Given the description of an element on the screen output the (x, y) to click on. 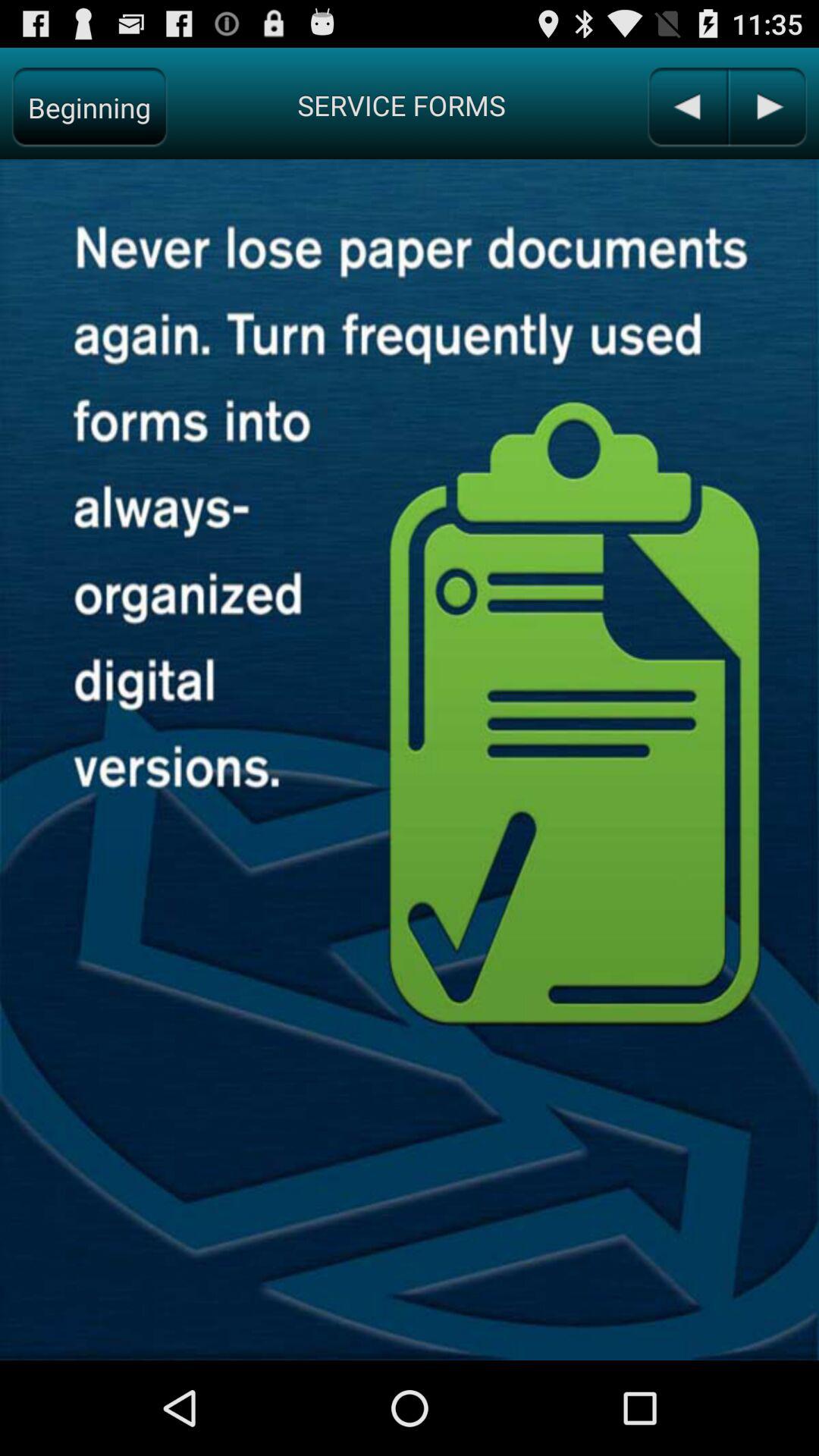
go here to continue on (767, 107)
